Given the description of an element on the screen output the (x, y) to click on. 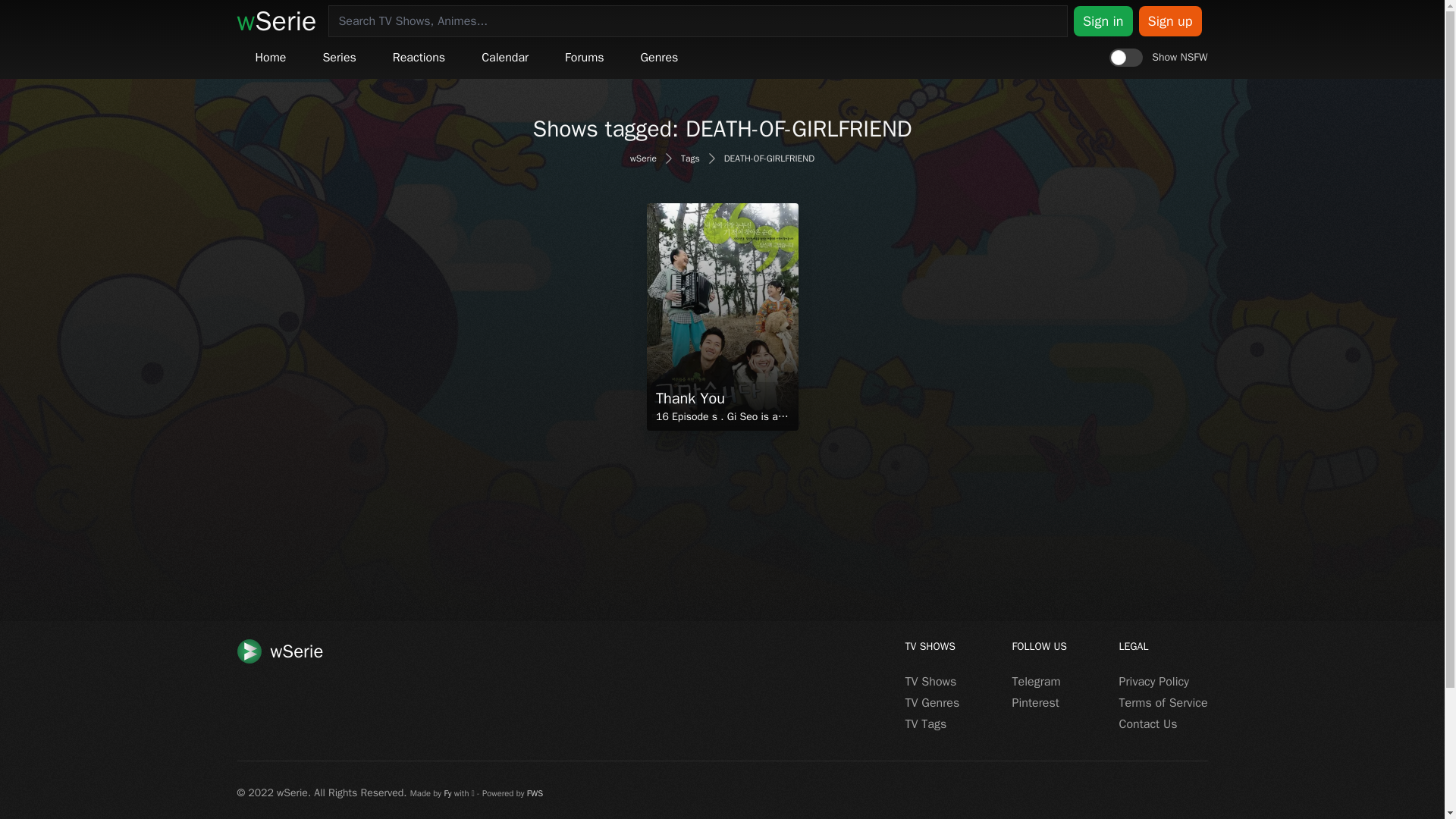
Sign up (1170, 20)
TV Tags (926, 724)
wSerie (643, 158)
wSerie (275, 21)
Sign in (1103, 20)
TV Genres (932, 702)
FWS (535, 792)
TV Shows (930, 681)
Calendar (505, 57)
Home (269, 57)
